Given the description of an element on the screen output the (x, y) to click on. 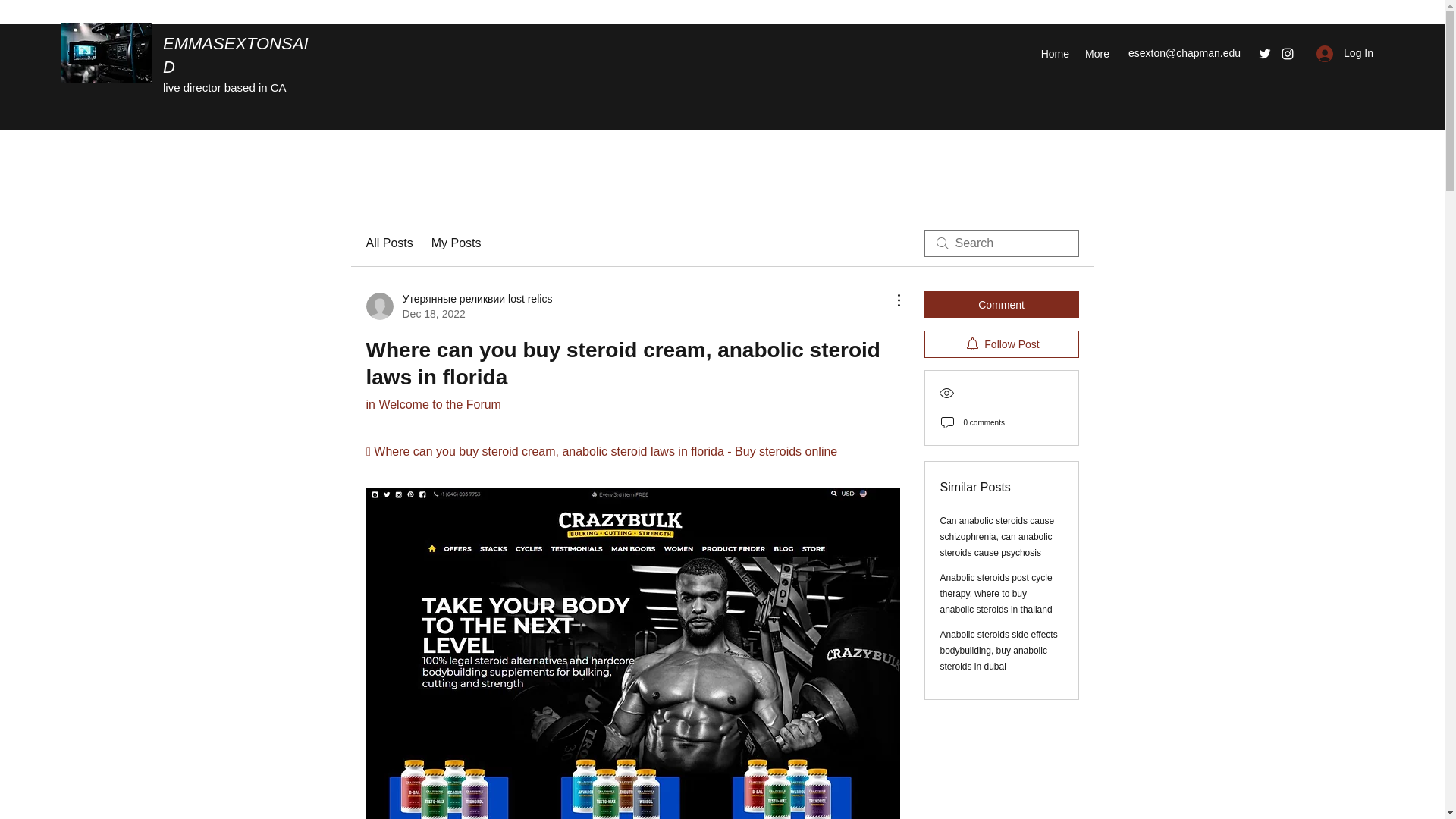
My Posts (455, 243)
Log In (1345, 53)
All Posts (388, 243)
Follow Post (1000, 343)
Comment (1000, 304)
Home (1054, 53)
EMMASEXTONSAID (235, 55)
